Given the description of an element on the screen output the (x, y) to click on. 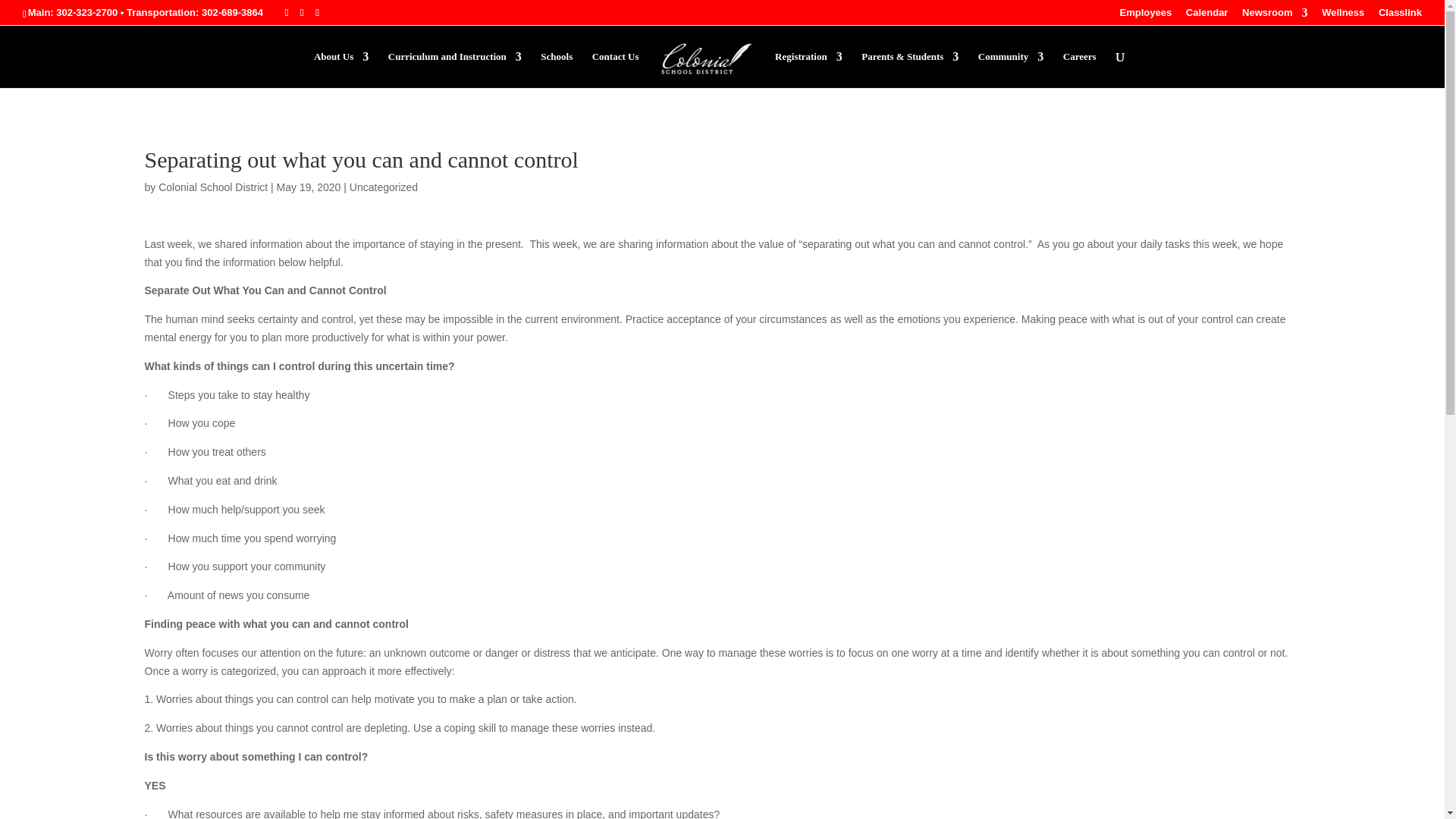
Classlink (1400, 16)
Newsroom (1274, 16)
Posts by Colonial School District (212, 186)
Curriculum and Instruction (454, 69)
About Us (341, 69)
Employees (1145, 16)
Calendar (1207, 16)
Wellness (1343, 16)
